Given the description of an element on the screen output the (x, y) to click on. 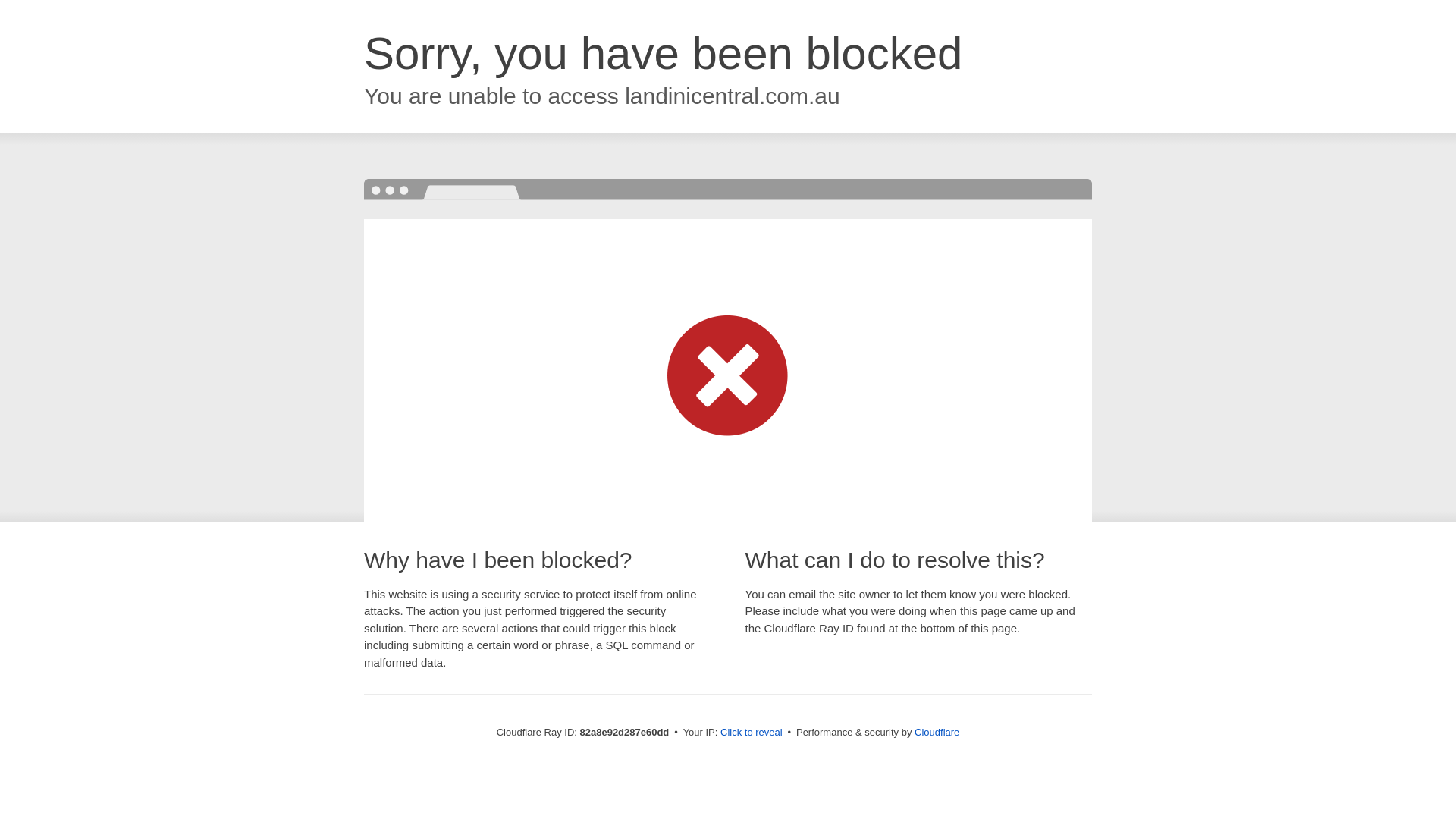
Cloudflare Element type: text (936, 731)
Click to reveal Element type: text (751, 732)
